Given the description of an element on the screen output the (x, y) to click on. 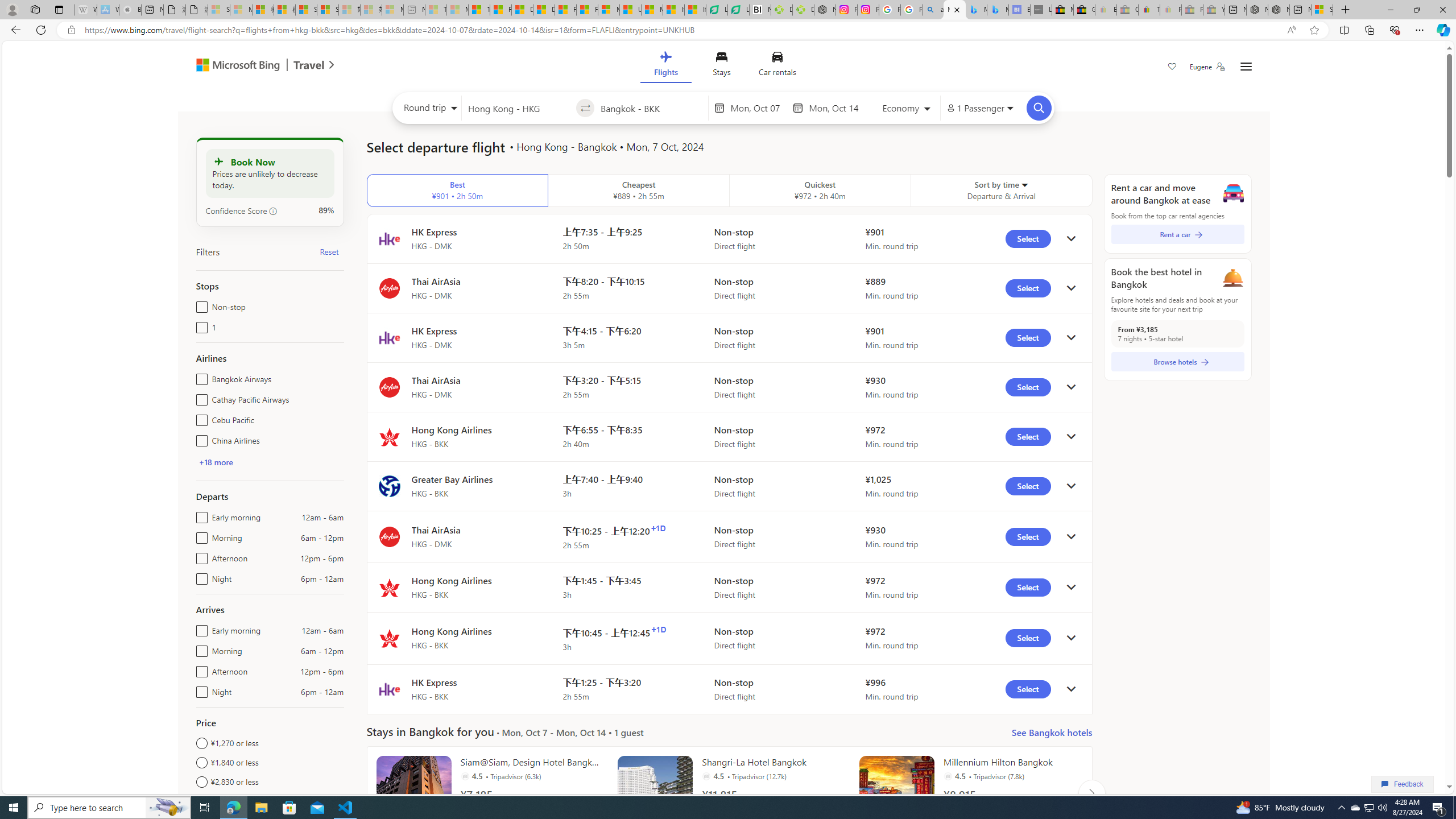
End date (836, 107)
Sort by time Sorter Departure & Arrival (1001, 190)
Food and Drink - MSN (500, 9)
Nordace - Nordace Edin Collection (824, 9)
Tripadvisor (947, 775)
Swap source and destination (585, 108)
Marine life - MSN - Sleeping (457, 9)
Microsoft Bing Travel (253, 65)
1 (199, 325)
